Given the description of an element on the screen output the (x, y) to click on. 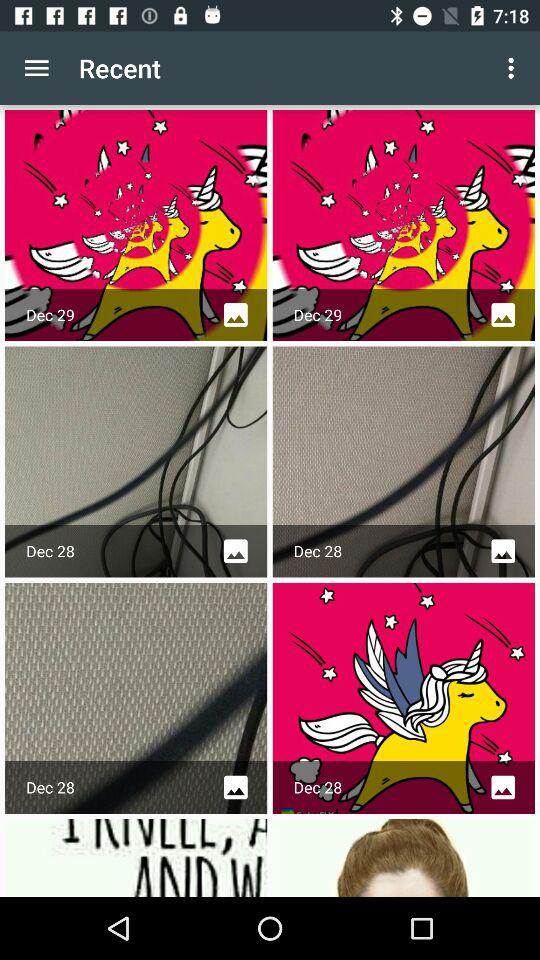
choose the item to the right of the recent icon (513, 67)
